Given the description of an element on the screen output the (x, y) to click on. 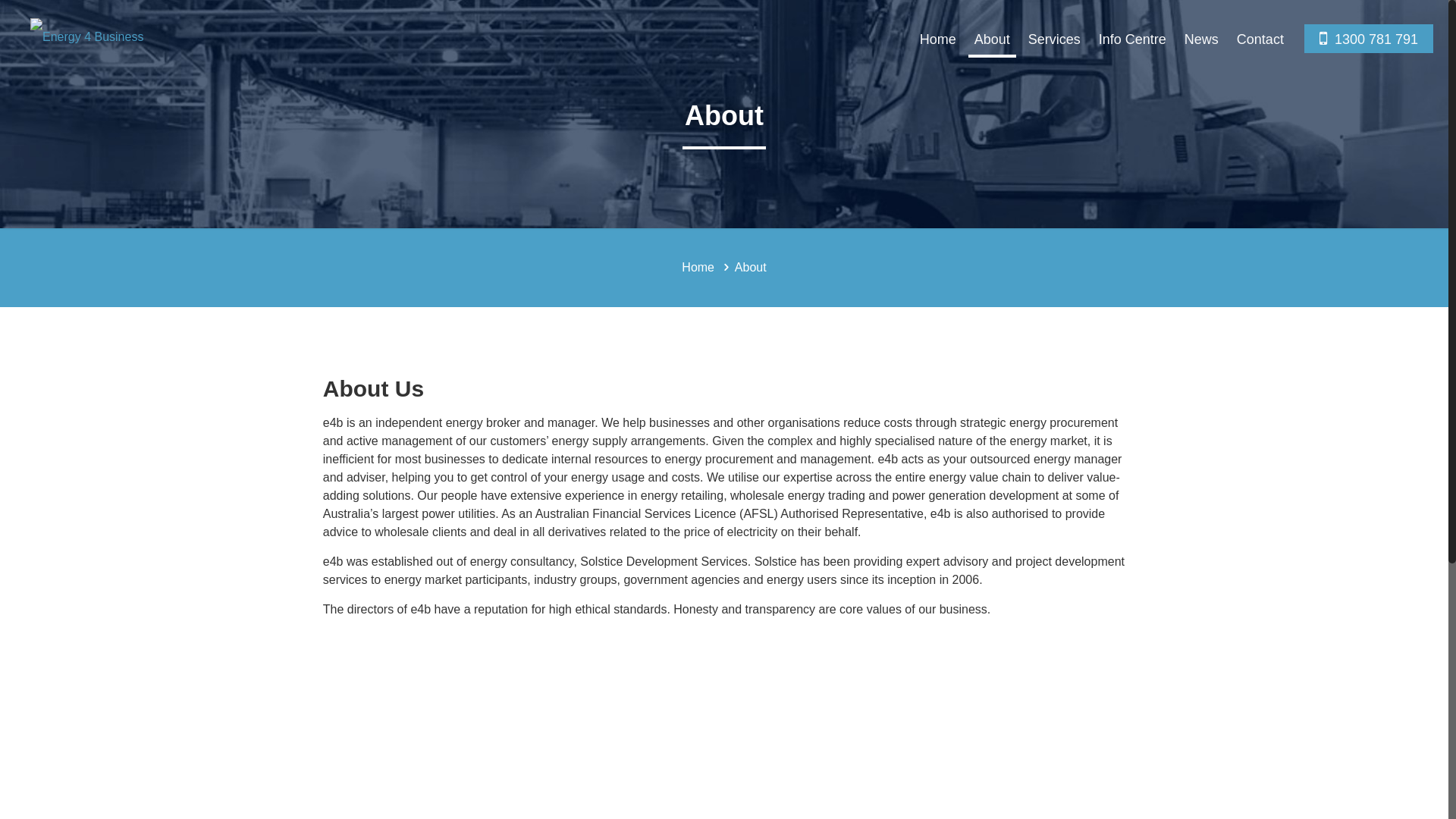
Home Element type: text (697, 266)
1300 781 791 Element type: text (1368, 39)
Home Element type: text (937, 39)
Info Centre Element type: text (1132, 39)
Services Element type: text (1054, 39)
About Element type: text (992, 39)
Contact Element type: text (1259, 39)
Energy 4 Business Element type: hover (86, 42)
News Element type: text (1201, 39)
